Given the description of an element on the screen output the (x, y) to click on. 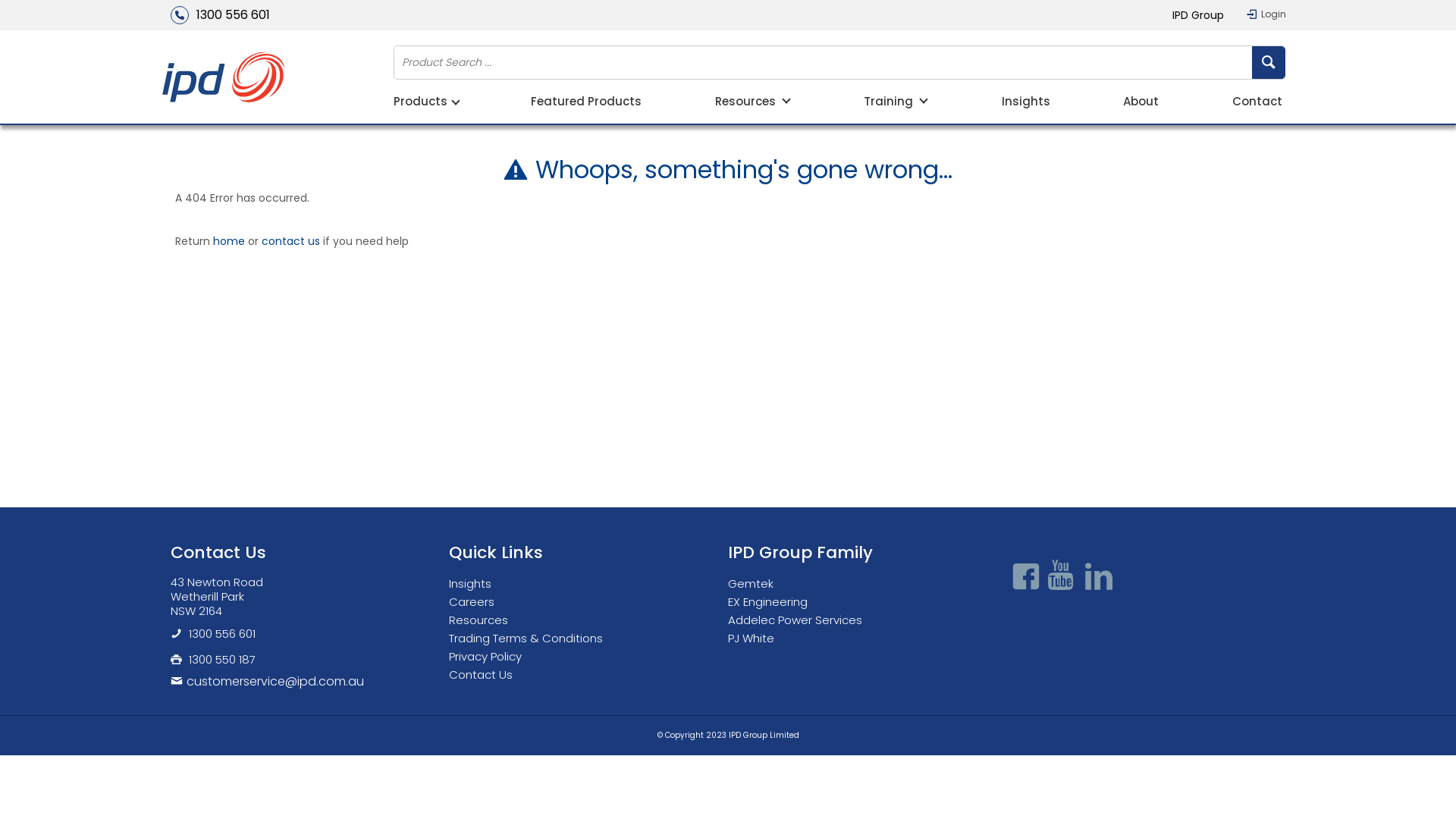
1300 556 601 Element type: text (221, 633)
YouTube Element type: hover (1061, 576)
Trading Terms & Conditions Element type: text (529, 637)
Facebook Element type: hover (1025, 576)
customerservice@ipd.com.au Element type: text (308, 681)
LinkedIn Element type: hover (1097, 576)
home Element type: text (228, 240)
Contact Element type: text (1256, 102)
IPD Group Element type: text (1197, 14)
Featured Products Element type: text (585, 102)
Careers Element type: text (475, 601)
Addelec Power Services Element type: text (798, 619)
Gemtek Element type: text (754, 583)
PJ White Element type: text (754, 637)
Resources Element type: text (752, 102)
Insights Element type: text (1025, 102)
EX Engineering Element type: text (771, 601)
Training Element type: text (895, 102)
contact us Element type: text (290, 240)
Privacy Policy Element type: text (488, 656)
About Element type: text (1140, 102)
1300 556 601 Element type: text (219, 15)
Resources Element type: text (481, 619)
Login Element type: text (1266, 13)
Contact Us Element type: text (484, 674)
Insights Element type: text (473, 583)
